Given the description of an element on the screen output the (x, y) to click on. 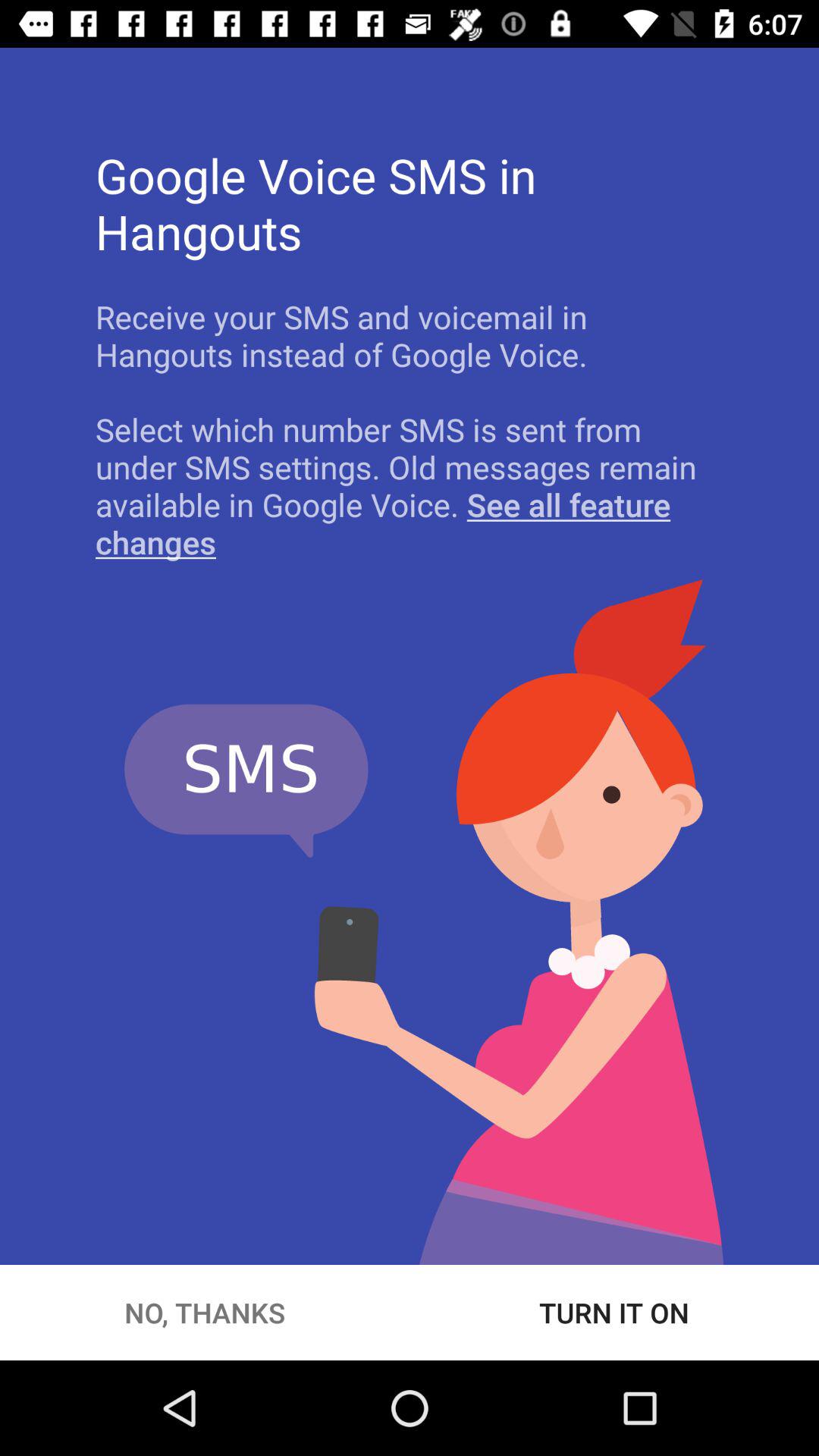
swipe until turn it on item (614, 1312)
